Given the description of an element on the screen output the (x, y) to click on. 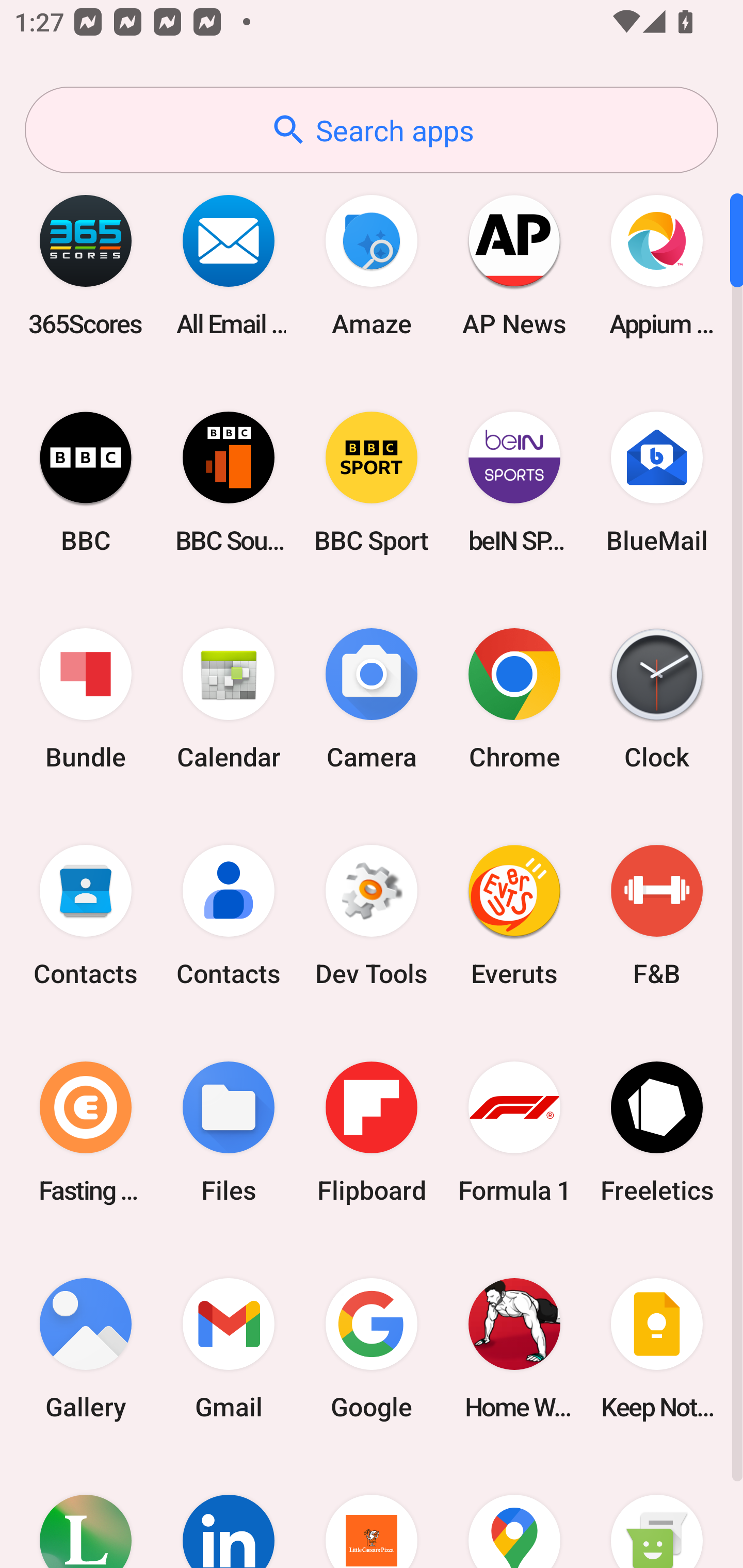
  Search apps (371, 130)
365Scores (85, 264)
All Email Connect (228, 264)
Amaze (371, 264)
AP News (514, 264)
Appium Settings (656, 264)
BBC (85, 482)
BBC Sounds (228, 482)
BBC Sport (371, 482)
beIN SPORTS (514, 482)
BlueMail (656, 482)
Bundle (85, 699)
Calendar (228, 699)
Camera (371, 699)
Chrome (514, 699)
Clock (656, 699)
Contacts (85, 915)
Contacts (228, 915)
Dev Tools (371, 915)
Everuts (514, 915)
F&B (656, 915)
Fasting Coach (85, 1131)
Files (228, 1131)
Flipboard (371, 1131)
Formula 1 (514, 1131)
Freeletics (656, 1131)
Gallery (85, 1348)
Gmail (228, 1348)
Google (371, 1348)
Home Workout (514, 1348)
Keep Notes (656, 1348)
Lifesum (85, 1512)
LinkedIn (228, 1512)
Little Caesars Pizza (371, 1512)
Maps (514, 1512)
Messaging (656, 1512)
